Given the description of an element on the screen output the (x, y) to click on. 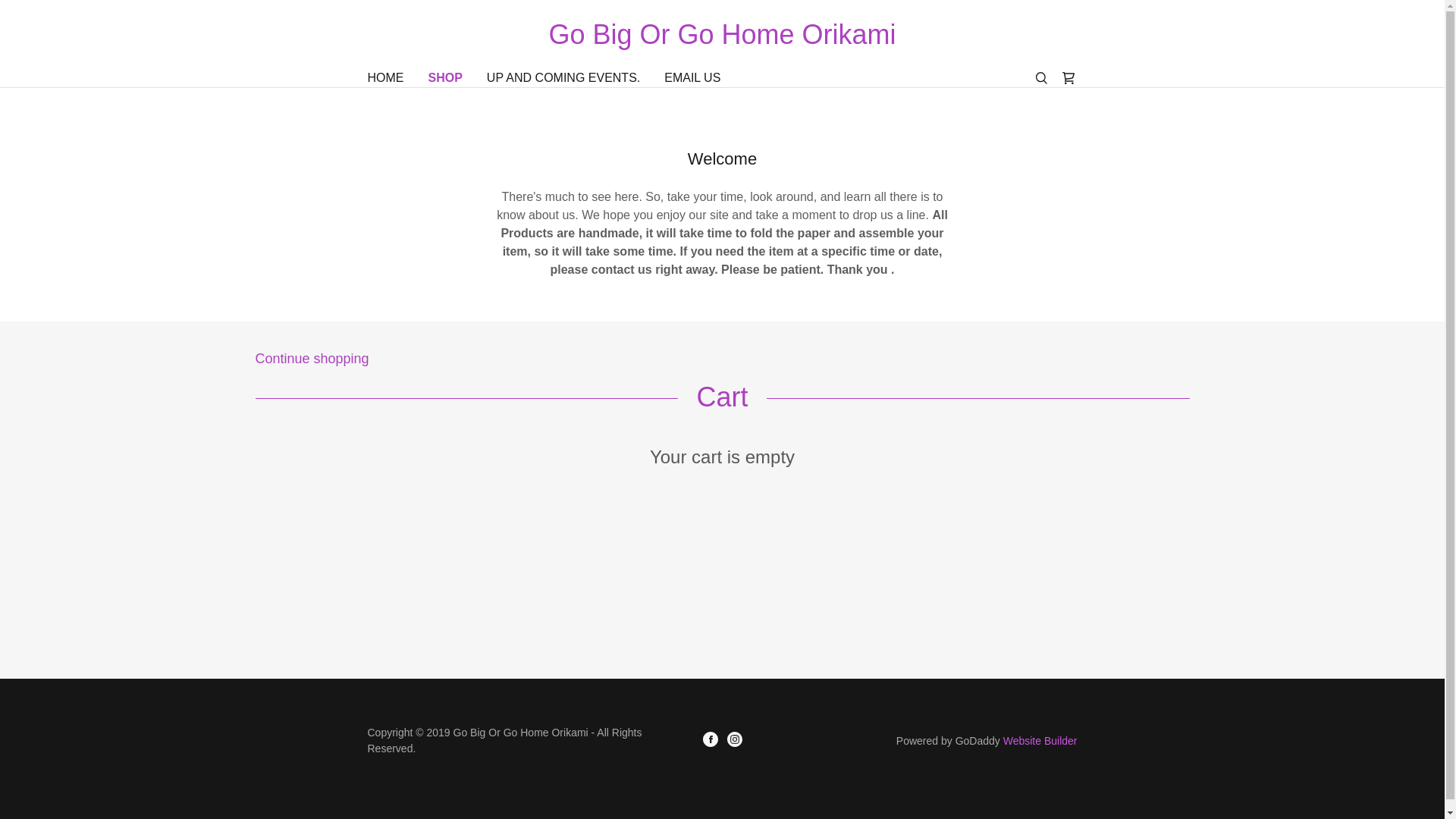
Go Big Or Go Home Orikami (721, 34)
EMAIL US (692, 77)
HOME (384, 77)
UP AND COMING EVENTS. (563, 77)
Go Big Or Go Home Orikami (721, 34)
Continue shopping (721, 357)
Website Builder (1040, 740)
SHOP (444, 77)
